Given the description of an element on the screen output the (x, y) to click on. 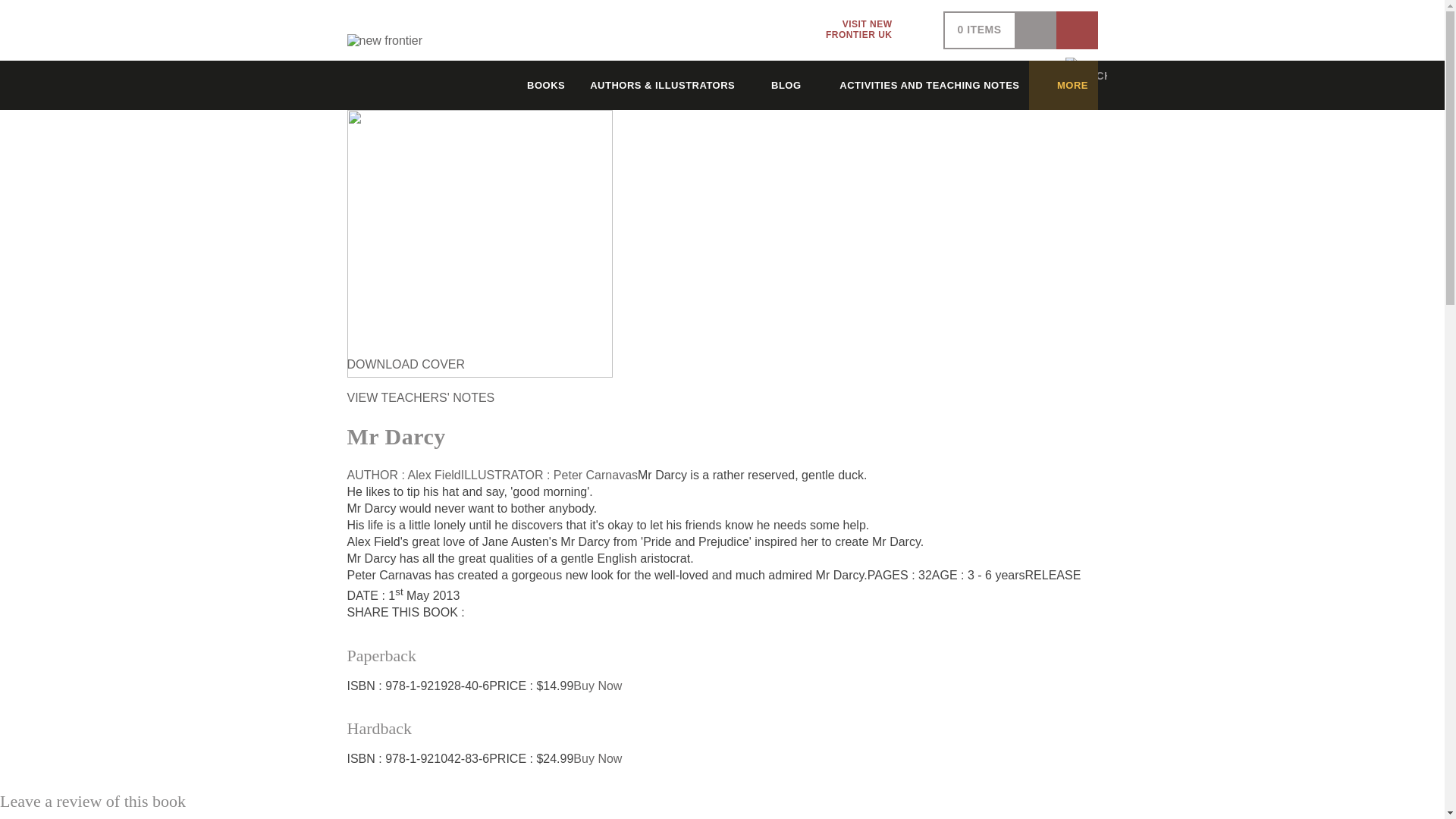
BLOG (872, 30)
BOOKS (778, 84)
0 ITEMS (535, 84)
ACTIVITIES AND TEACHING NOTES (979, 29)
